Given the description of an element on the screen output the (x, y) to click on. 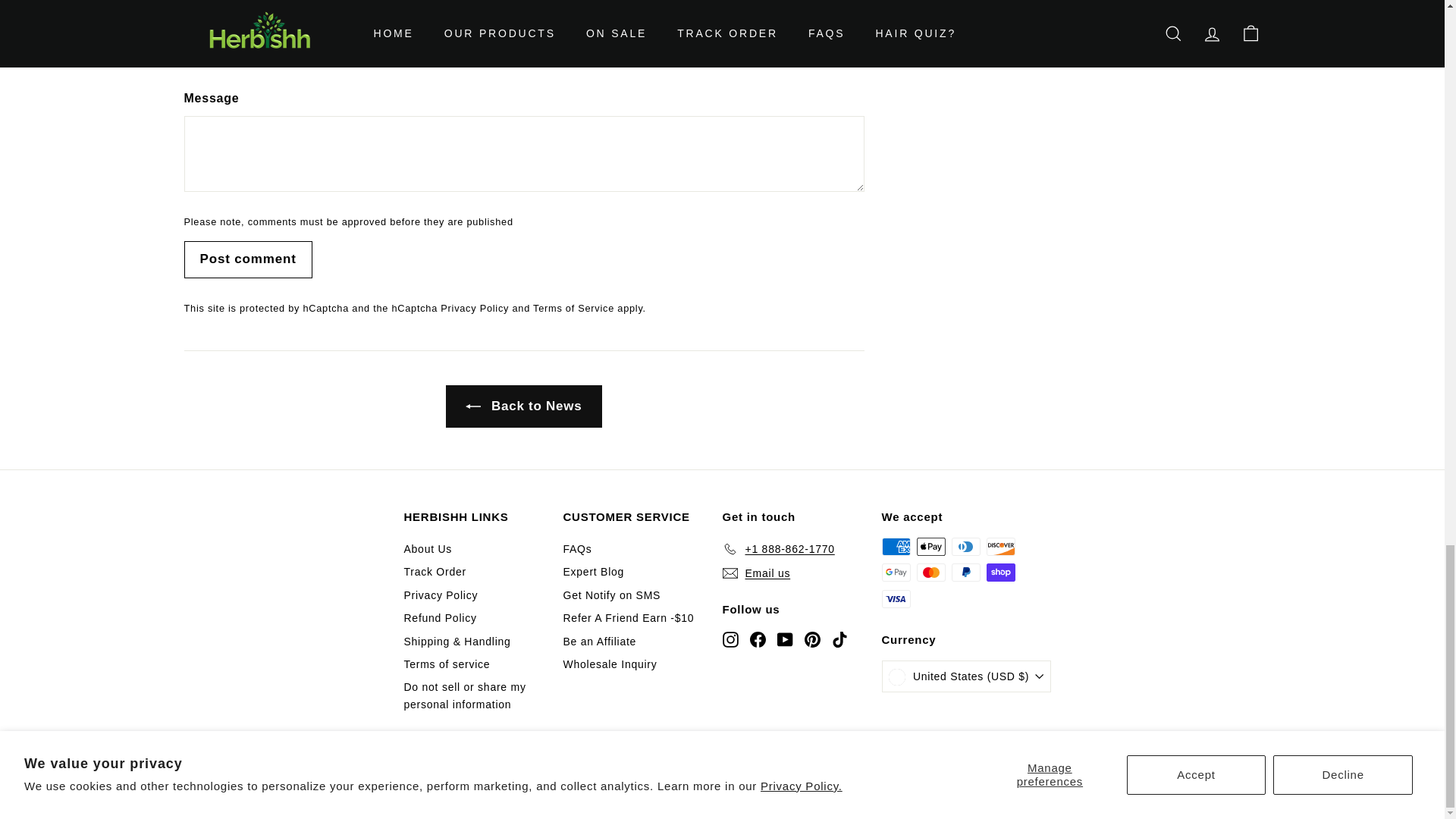
American Express (895, 546)
herbishh.com   on Facebook (757, 638)
herbishh.com   on Pinterest (811, 638)
herbishh.com   on TikTok (839, 638)
Mastercard (929, 572)
herbishh.com   on YouTube (784, 638)
Discover (999, 546)
herbishh.com   on Instagram (730, 638)
Diners Club (964, 546)
PayPal (964, 572)
